Given the description of an element on the screen output the (x, y) to click on. 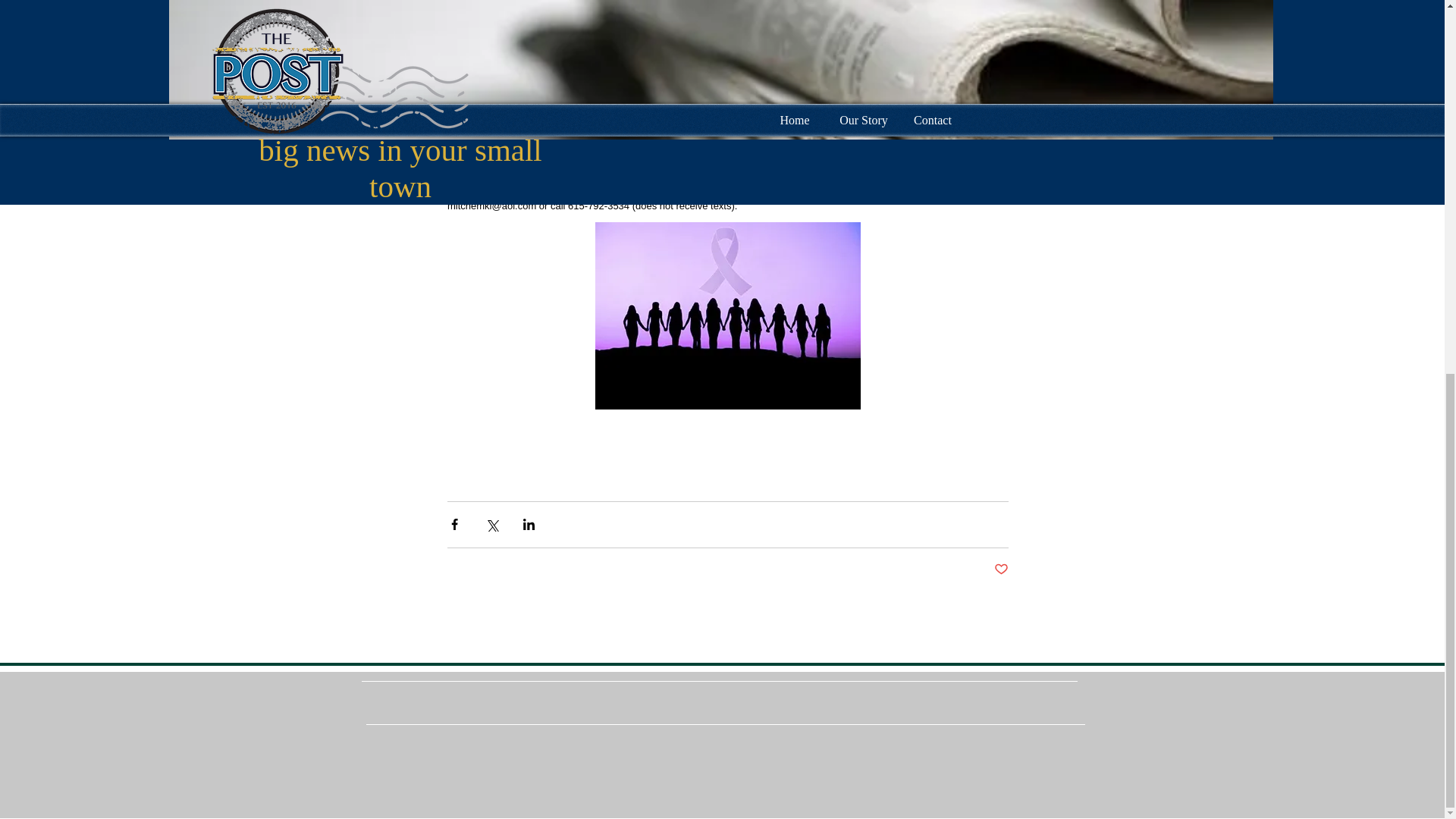
Post not marked as liked (999, 569)
